Given the description of an element on the screen output the (x, y) to click on. 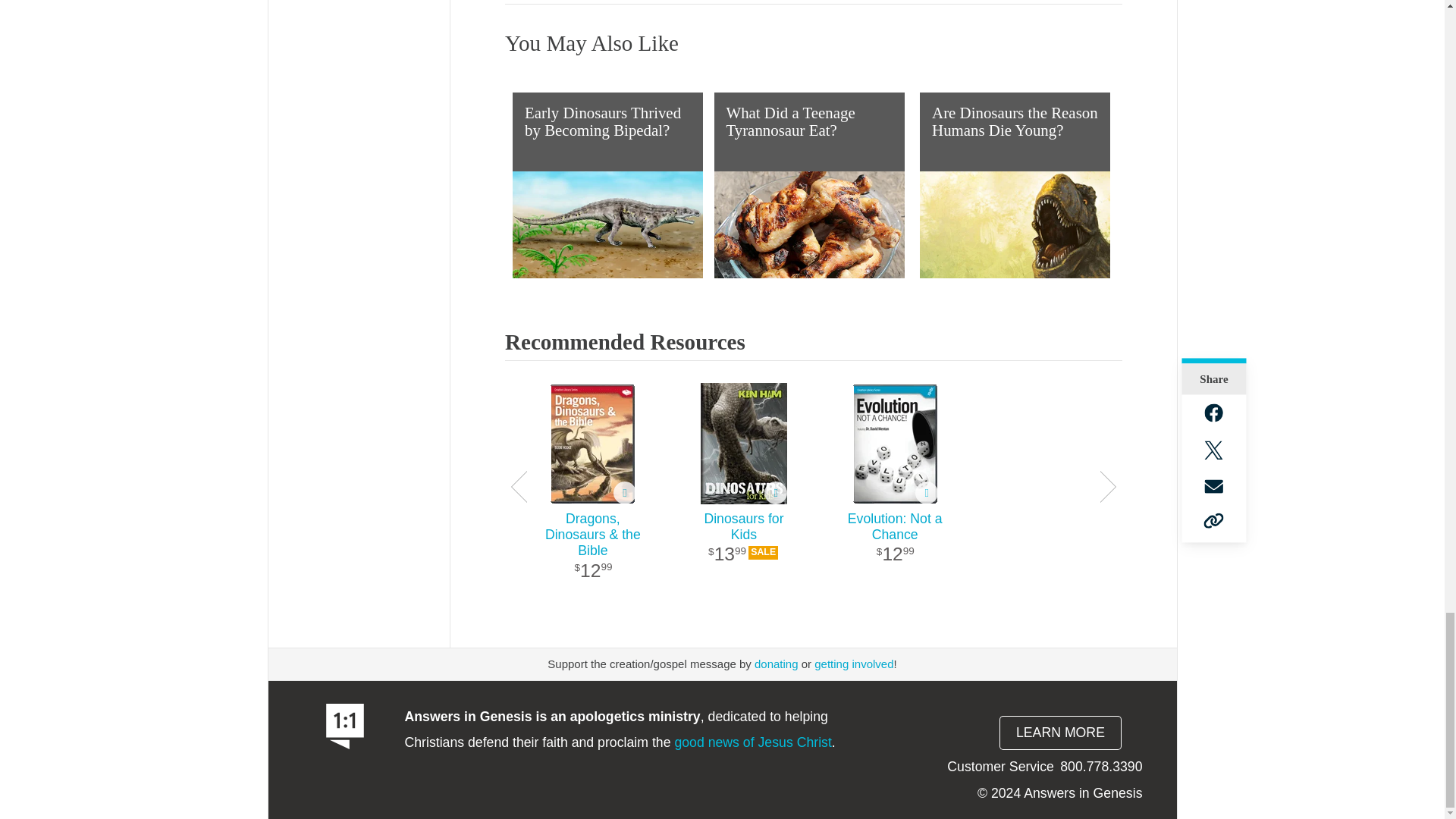
Dinosaurs for Kids (742, 443)
Dinosaurs for Kids (743, 545)
